Given the description of an element on the screen output the (x, y) to click on. 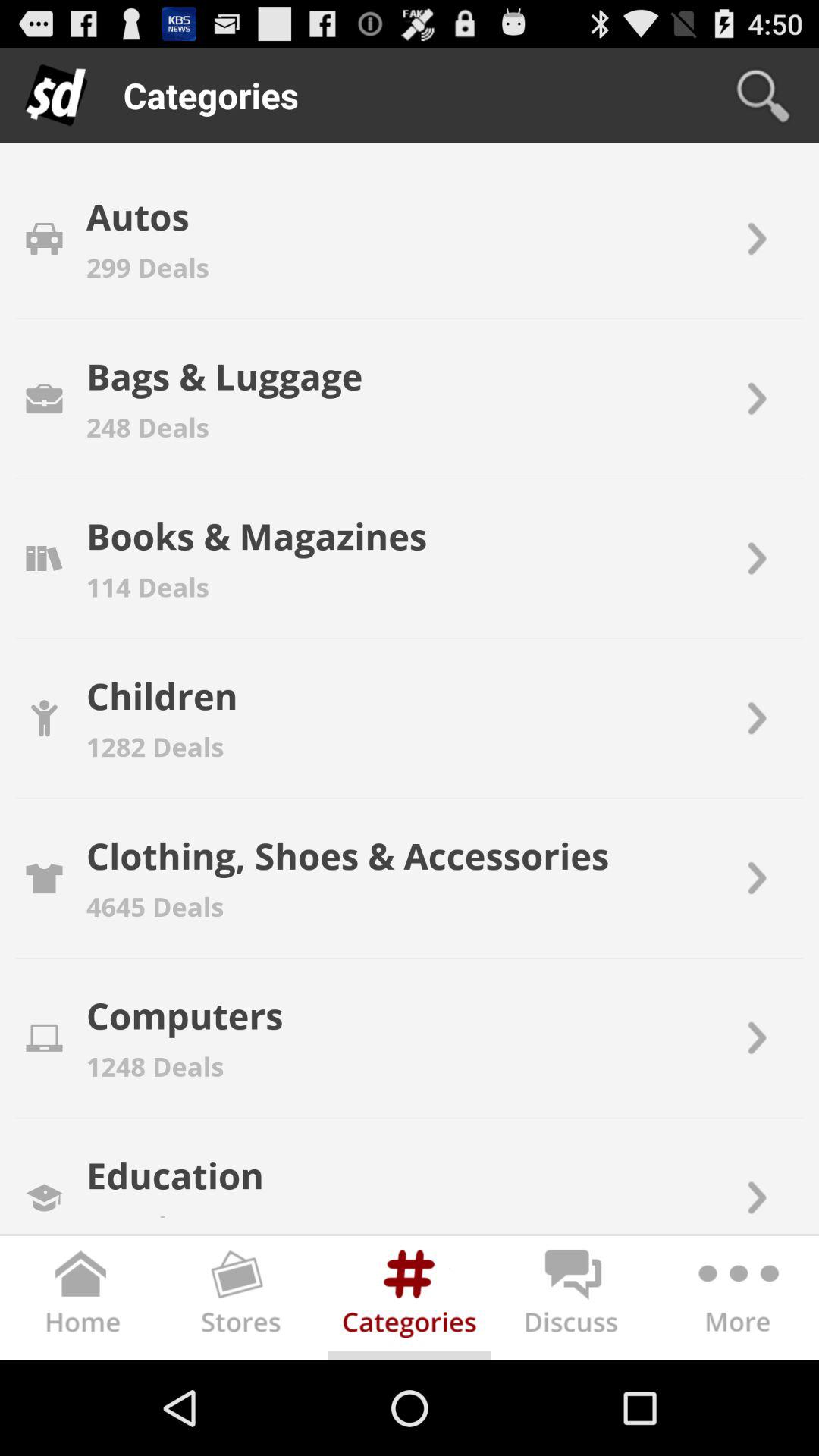
press children item (161, 695)
